Given the description of an element on the screen output the (x, y) to click on. 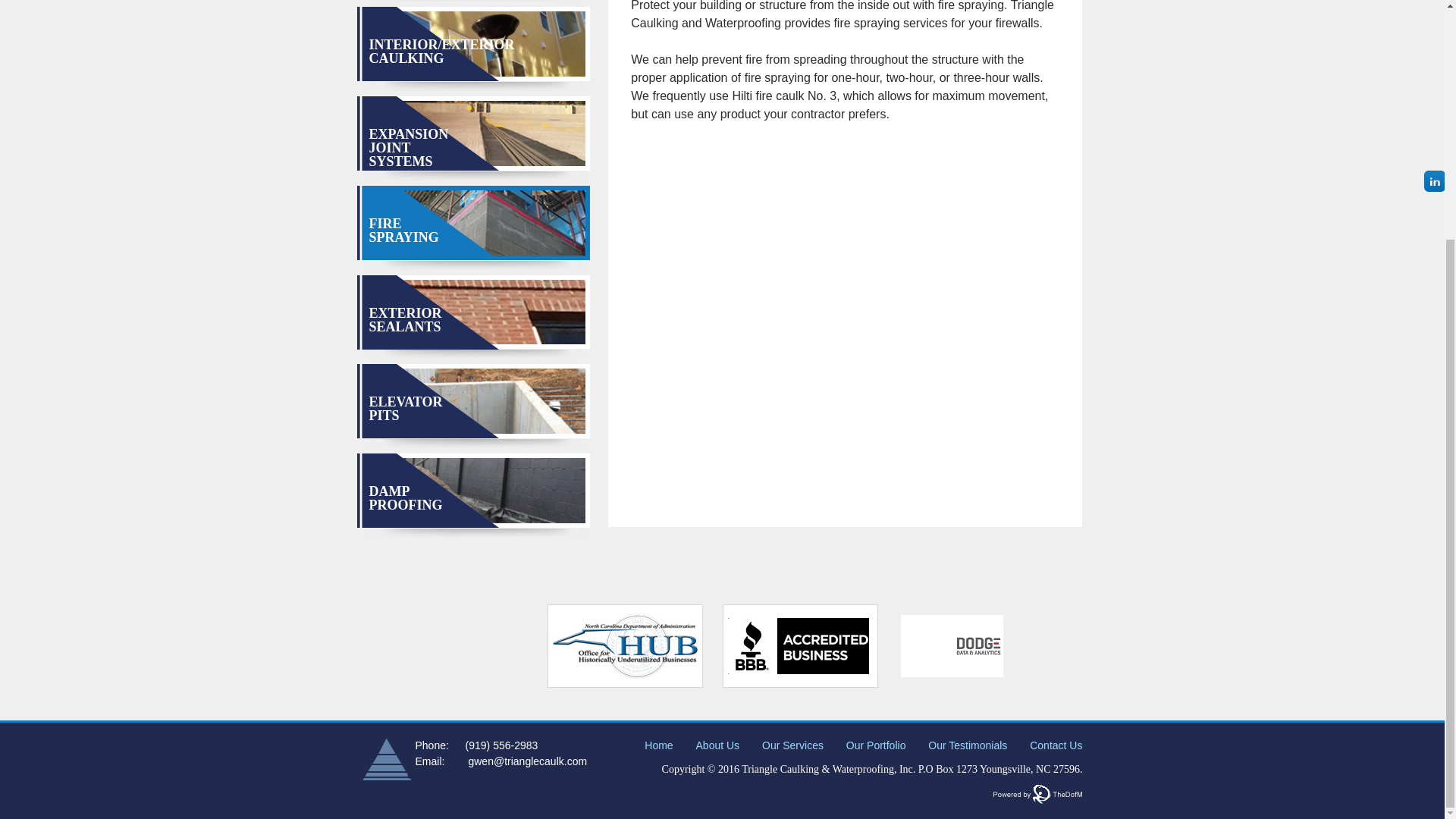
About Us (717, 745)
Home (658, 745)
DAMP PROOFING (405, 498)
ELEVATOR PITS (405, 408)
dofm-logo (1036, 793)
EXTERIOR SEALANTS (404, 319)
EXPANSION JOINT SYSTEMS (408, 147)
